Given the description of an element on the screen output the (x, y) to click on. 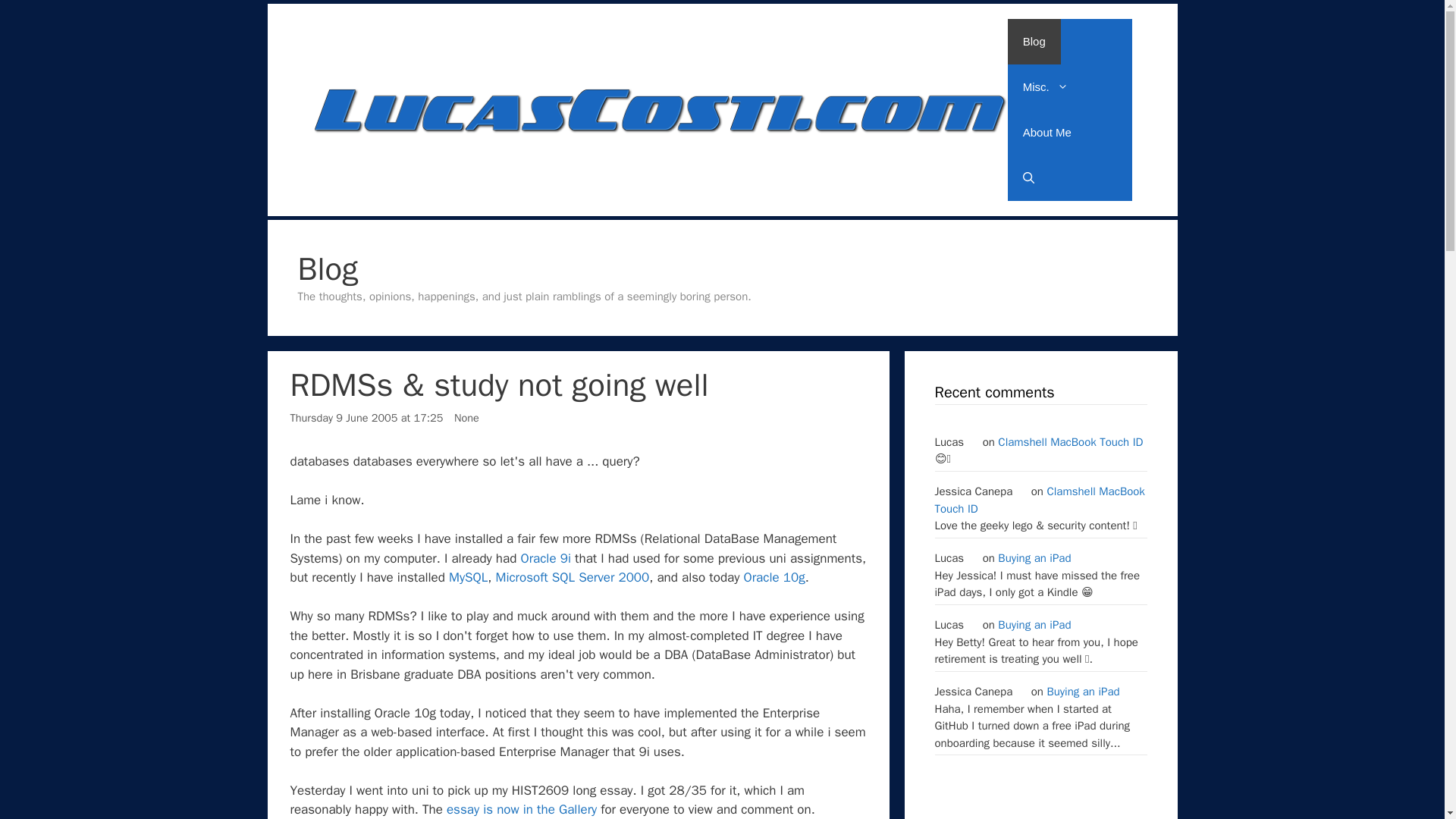
Misc. (1045, 86)
Buying an iPad (1033, 624)
Buying an iPad (1033, 558)
17:25 (365, 418)
About Me (1046, 132)
None (466, 418)
Buying an iPad (1082, 691)
Oracle 10g (773, 577)
essay is now in the Gallery (521, 809)
MySQL (467, 577)
